Given the description of an element on the screen output the (x, y) to click on. 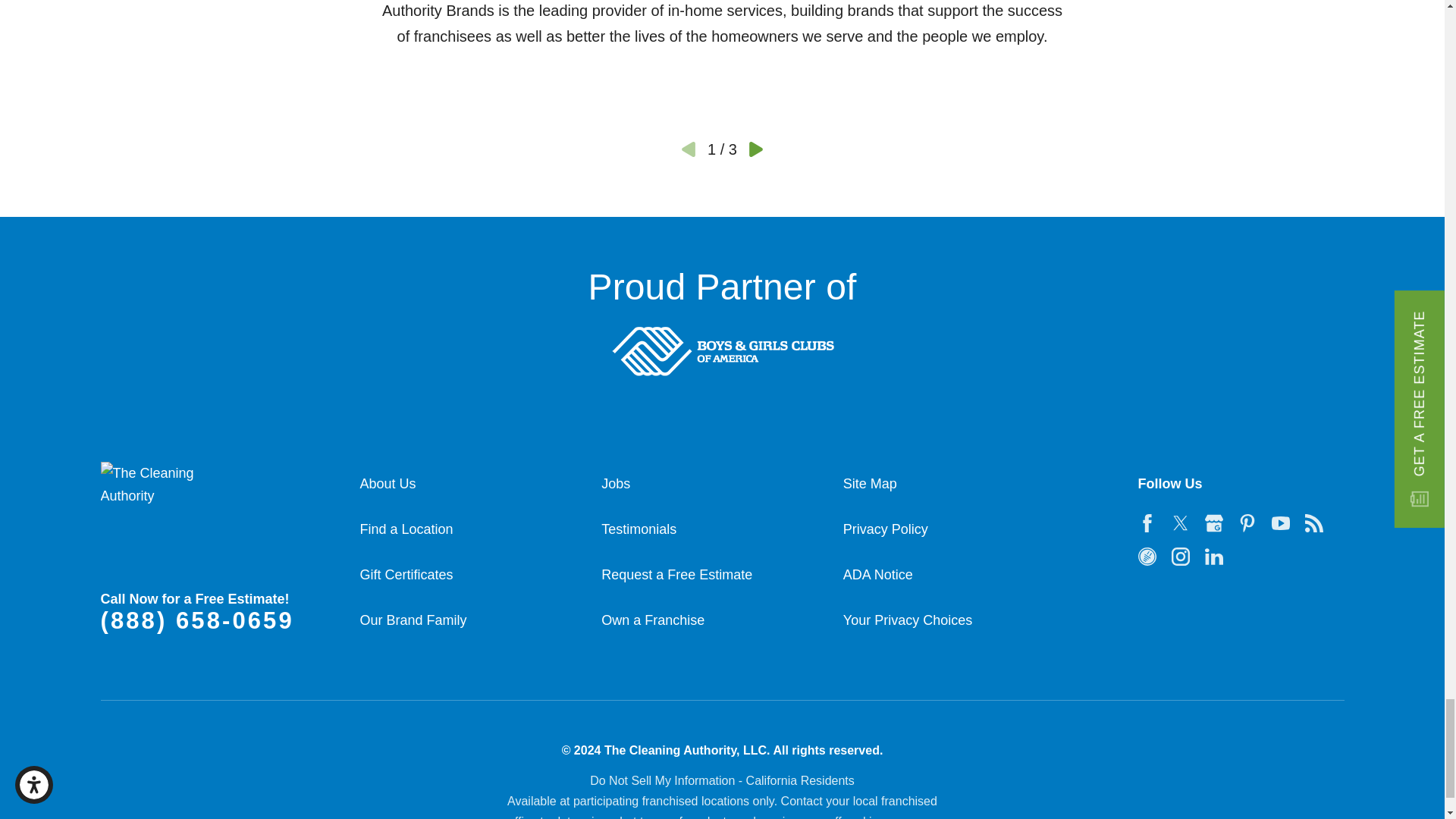
View previous item (688, 149)
